Given the description of an element on the screen output the (x, y) to click on. 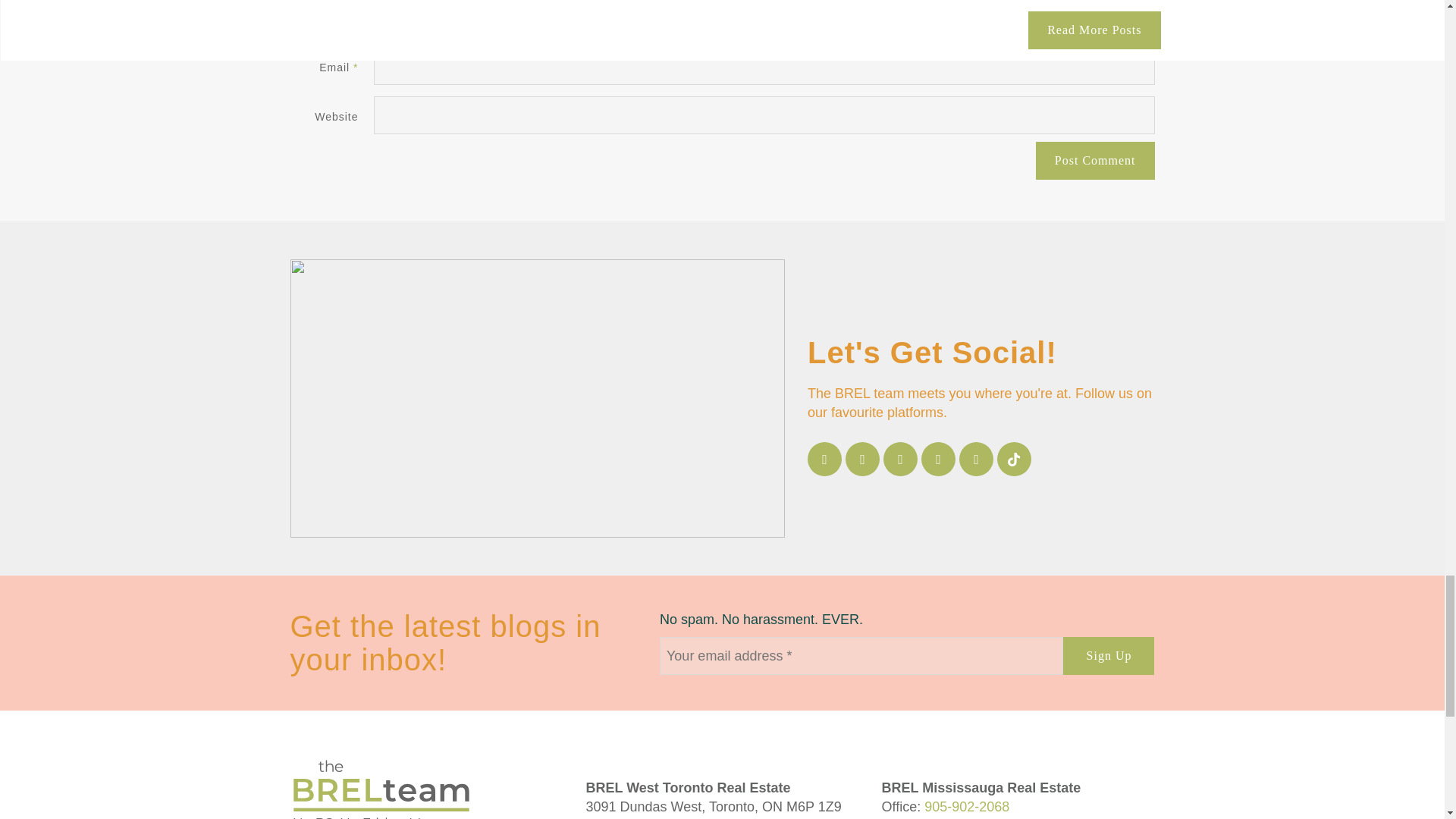
Post Comment (1094, 160)
Sign Up (1108, 655)
